Given the description of an element on the screen output the (x, y) to click on. 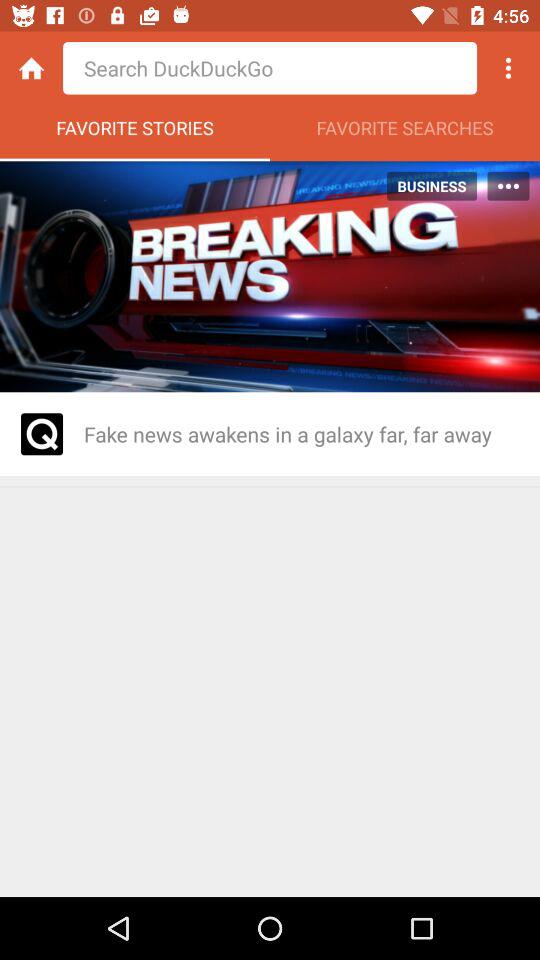
turn off the icon next to the favorite searches icon (135, 133)
